Given the description of an element on the screen output the (x, y) to click on. 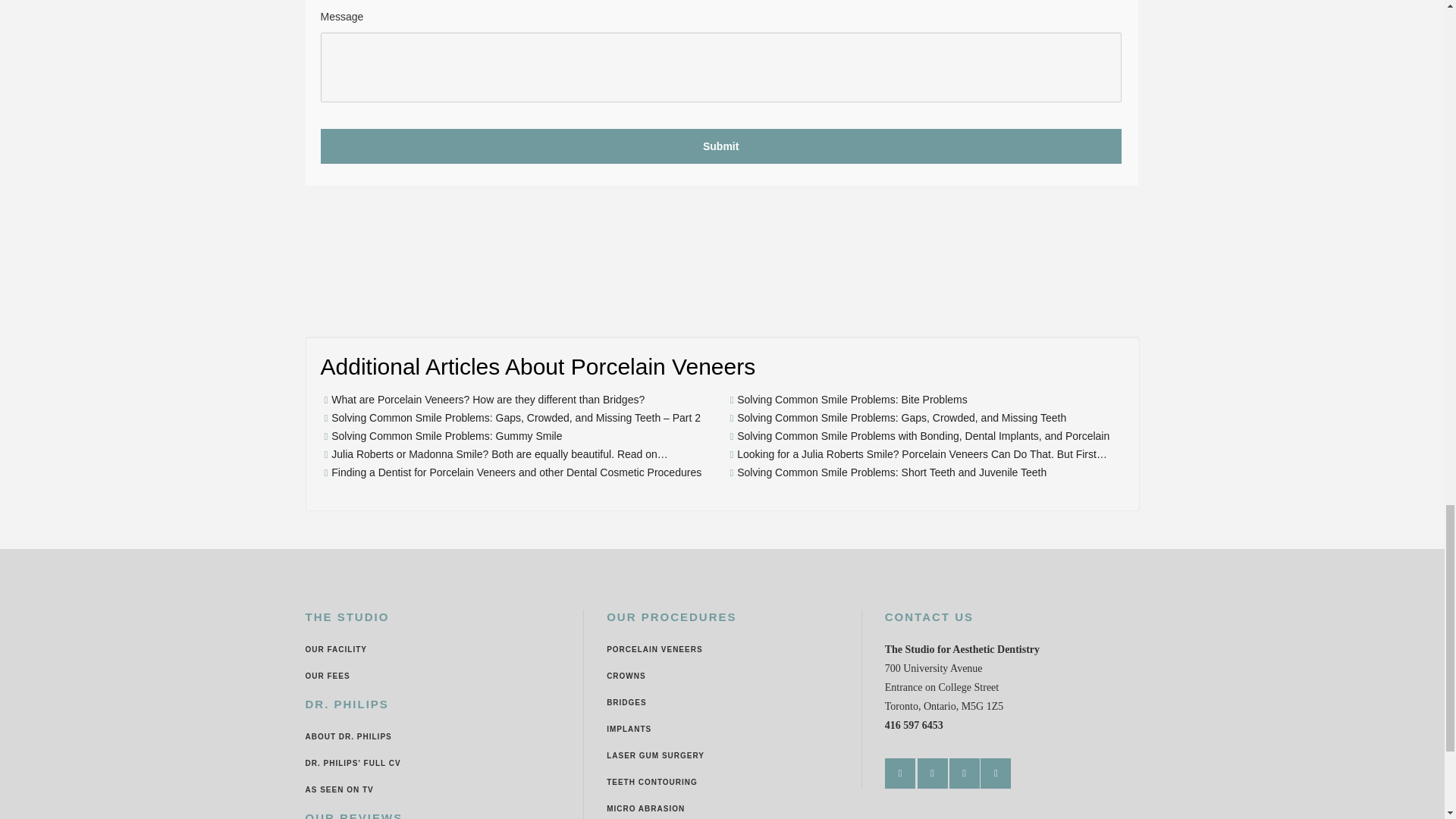
Submit (720, 145)
Porcelain Veneers (654, 649)
Solving Common Smile Problems: Bite Problems (851, 399)
Solving Common Smile Problems: Gummy Smile (446, 436)
